Given the description of an element on the screen output the (x, y) to click on. 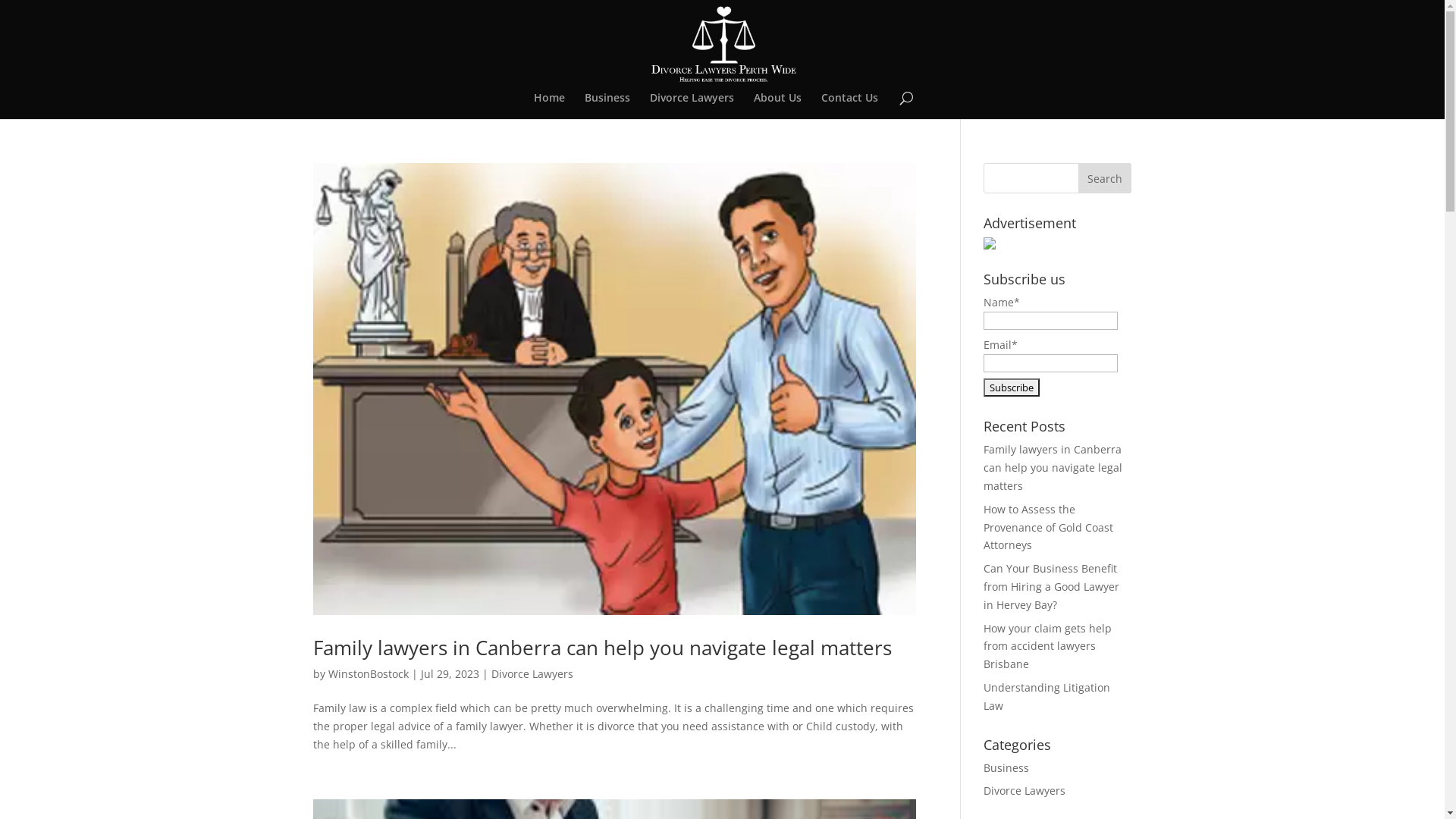
Search Element type: text (1104, 178)
About Us Element type: text (777, 105)
How your claim gets help from accident lawyers Brisbane Element type: text (1047, 646)
Divorce Lawyers Element type: text (532, 673)
Home Element type: text (548, 105)
Business Element type: text (1006, 767)
Divorce Lawyers Element type: text (691, 105)
Subscribe Element type: text (1011, 387)
How to Assess the Provenance of Gold Coast Attorneys Element type: text (1048, 527)
WinstonBostock Element type: text (367, 673)
Understanding Litigation Law Element type: text (1046, 696)
Business Element type: text (606, 105)
Contact Us Element type: text (848, 105)
Divorce Lawyers Element type: text (1024, 790)
